Given the description of an element on the screen output the (x, y) to click on. 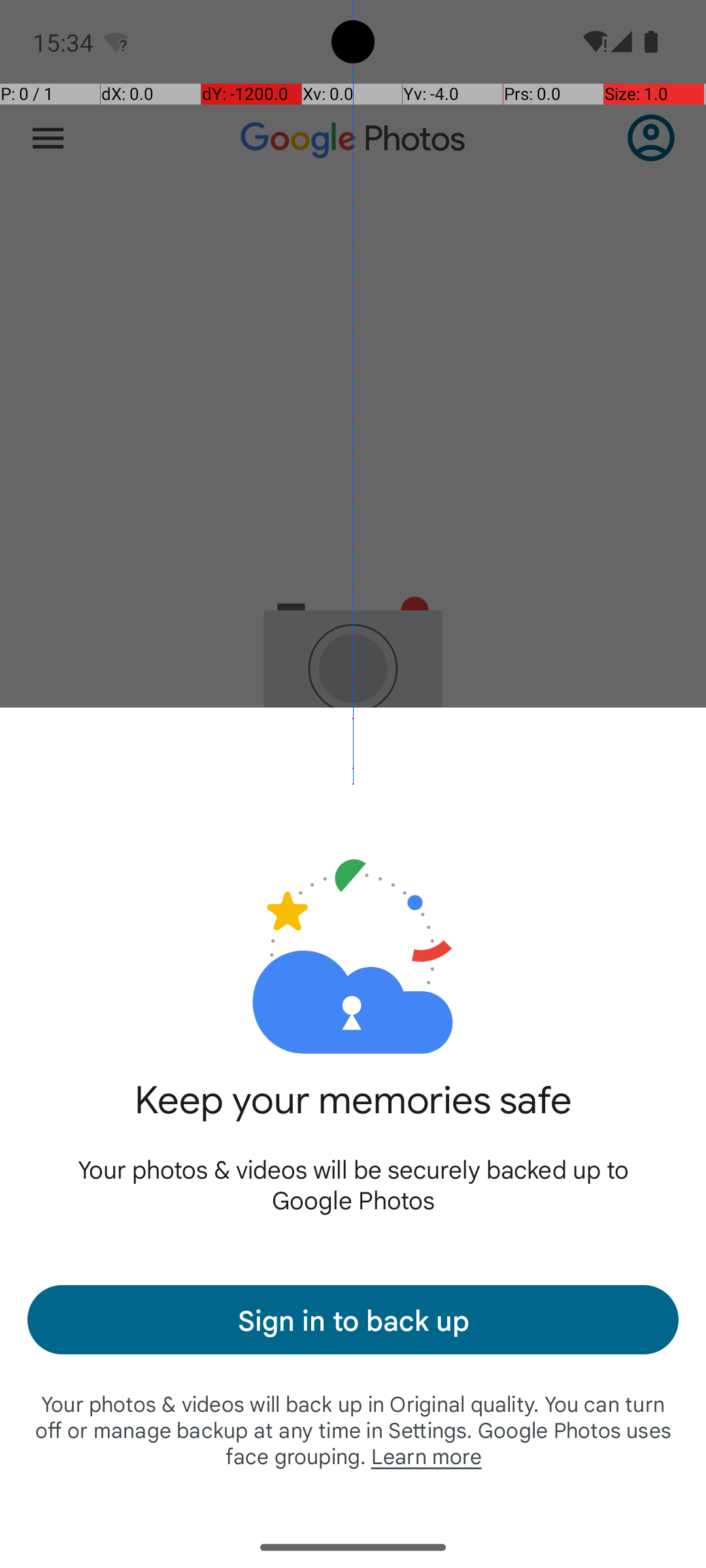
Photos and videos stored in a cloud Element type: android.widget.ImageView (352, 913)
Keep your memories safe Element type: android.widget.TextView (352, 1113)
Your photos & videos will be securely backed up to Google Photos Element type: android.widget.TextView (352, 1183)
Sign in to back up Element type: android.widget.Button (352, 1319)
Your photos & videos will back up in Original quality. You can turn off or manage backup at any time in Settings. Google Photos uses face grouping. Learn more Element type: android.widget.TextView (352, 1429)
